Given the description of an element on the screen output the (x, y) to click on. 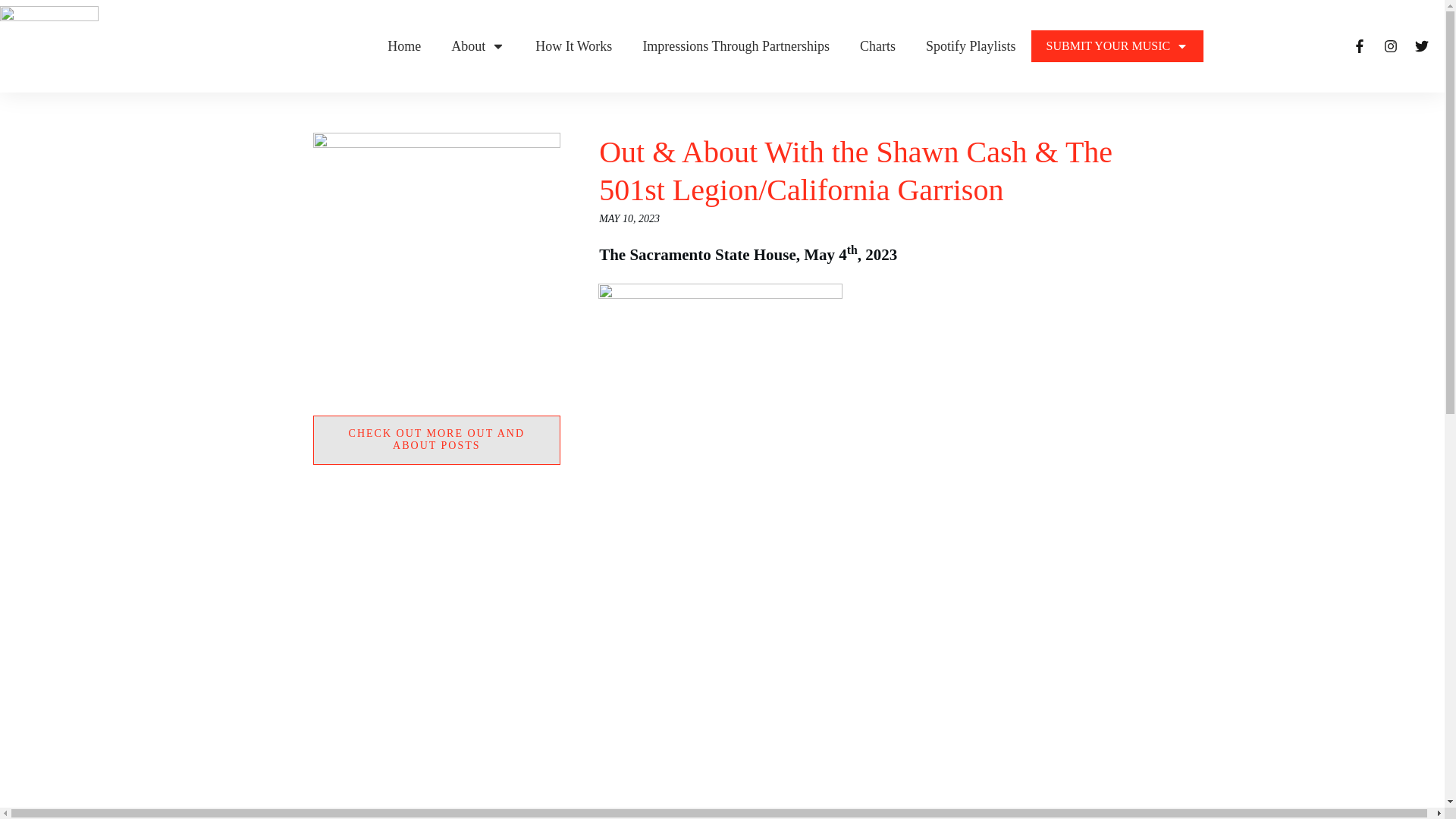
SUBMIT YOUR MUSIC (1117, 46)
About (478, 45)
Impressions Through Partnerships (735, 45)
How It Works (573, 45)
CHECK OUT MORE OUT AND ABOUT POSTS (436, 440)
Home (403, 45)
Charts (877, 45)
Spotify Playlists (971, 45)
